Given the description of an element on the screen output the (x, y) to click on. 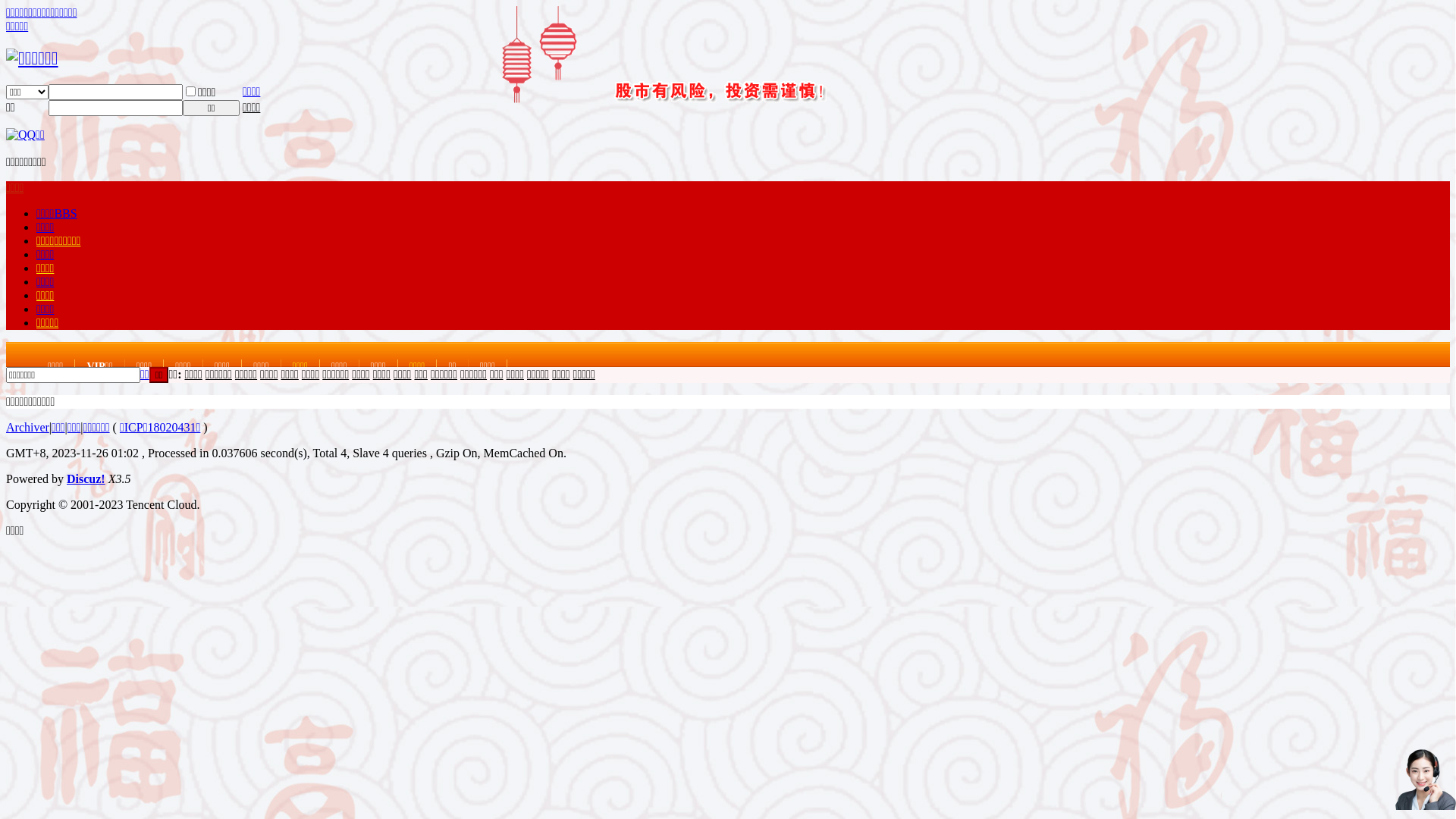
Discuz! Element type: text (85, 478)
Archiver Element type: text (27, 426)
